Given the description of an element on the screen output the (x, y) to click on. 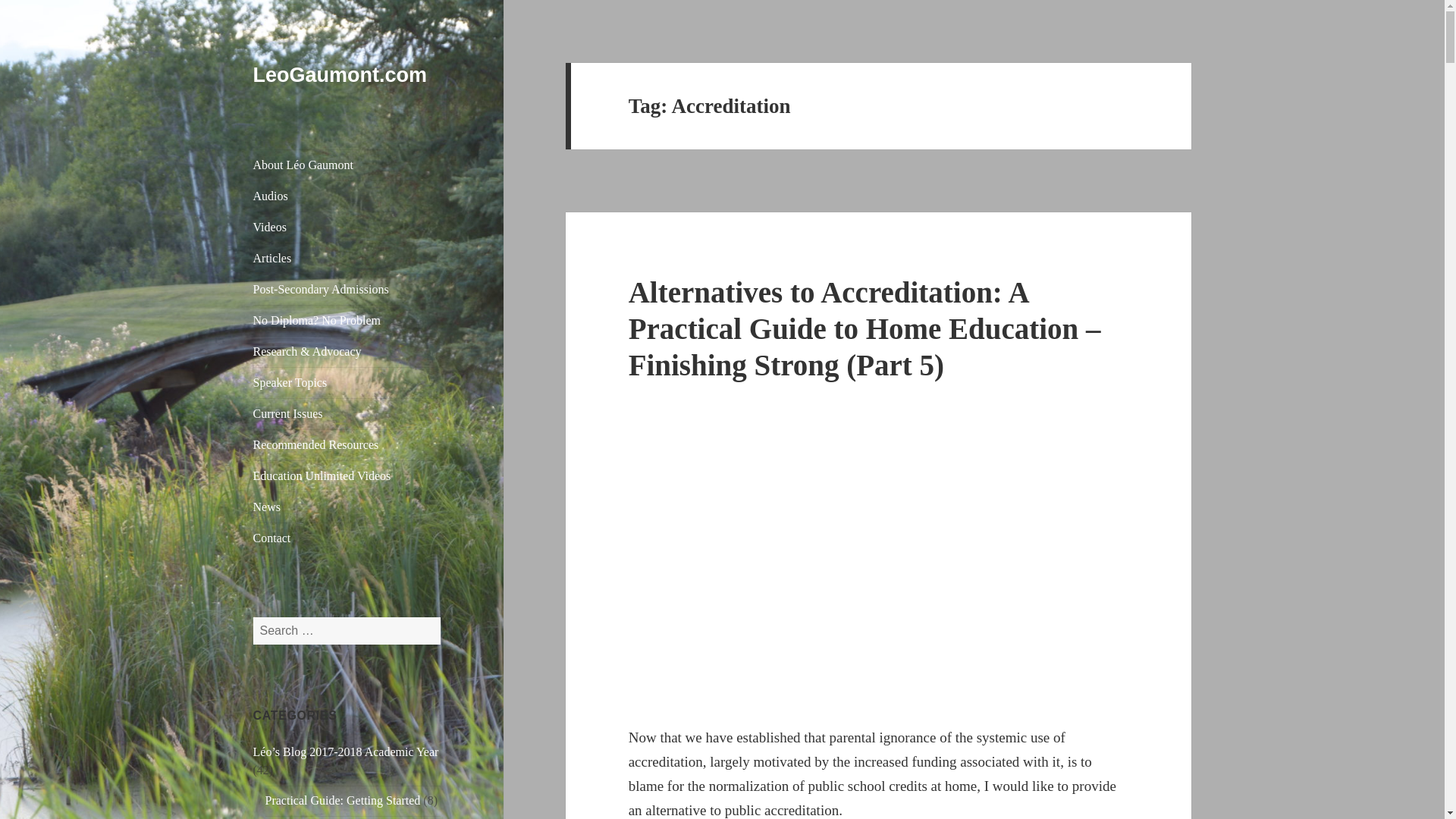
LeoGaumont.com (340, 74)
News (347, 507)
Practical Guide: Getting Started (342, 799)
Current Issues (347, 413)
Education Unlimited Videos (347, 476)
Post-Secondary Admissions (347, 289)
Speaker Topics (347, 382)
